Given the description of an element on the screen output the (x, y) to click on. 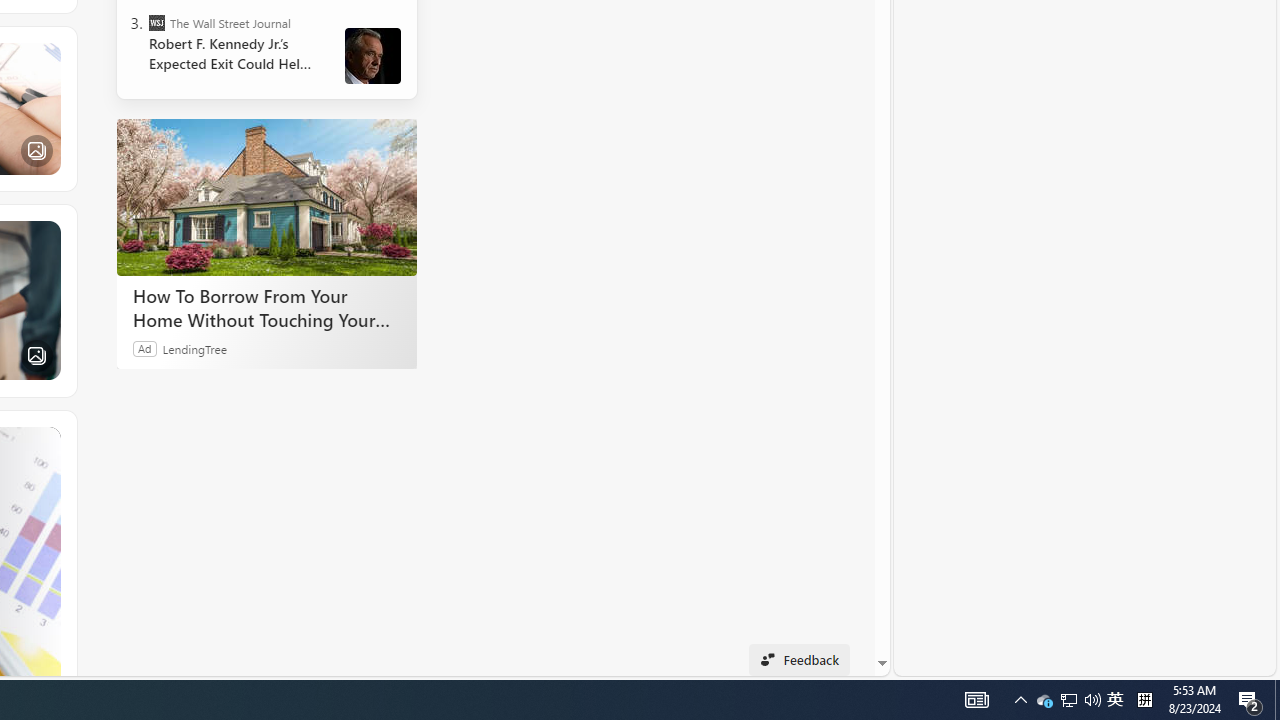
How To Borrow From Your Home Without Touching Your Mortgage (266, 196)
Ad (145, 348)
LendingTree (194, 348)
How To Borrow From Your Home Without Touching Your Mortgage (266, 307)
The Wall Street Journal (156, 22)
Feedback (798, 659)
See more (46, 440)
